Given the description of an element on the screen output the (x, y) to click on. 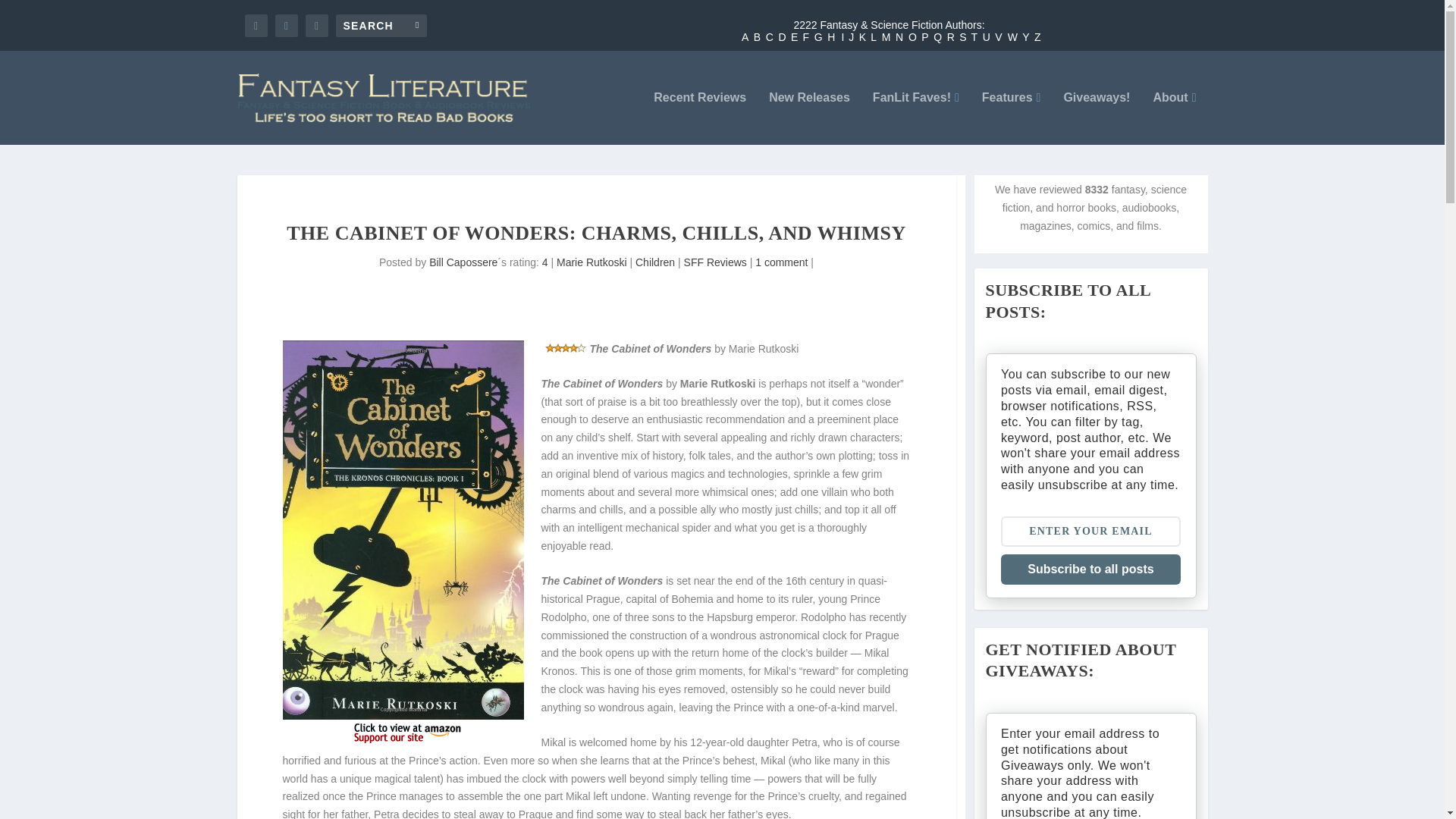
FanLit Faves! (915, 117)
Posts by Bill Capossere (463, 262)
Search for: (380, 24)
